Given the description of an element on the screen output the (x, y) to click on. 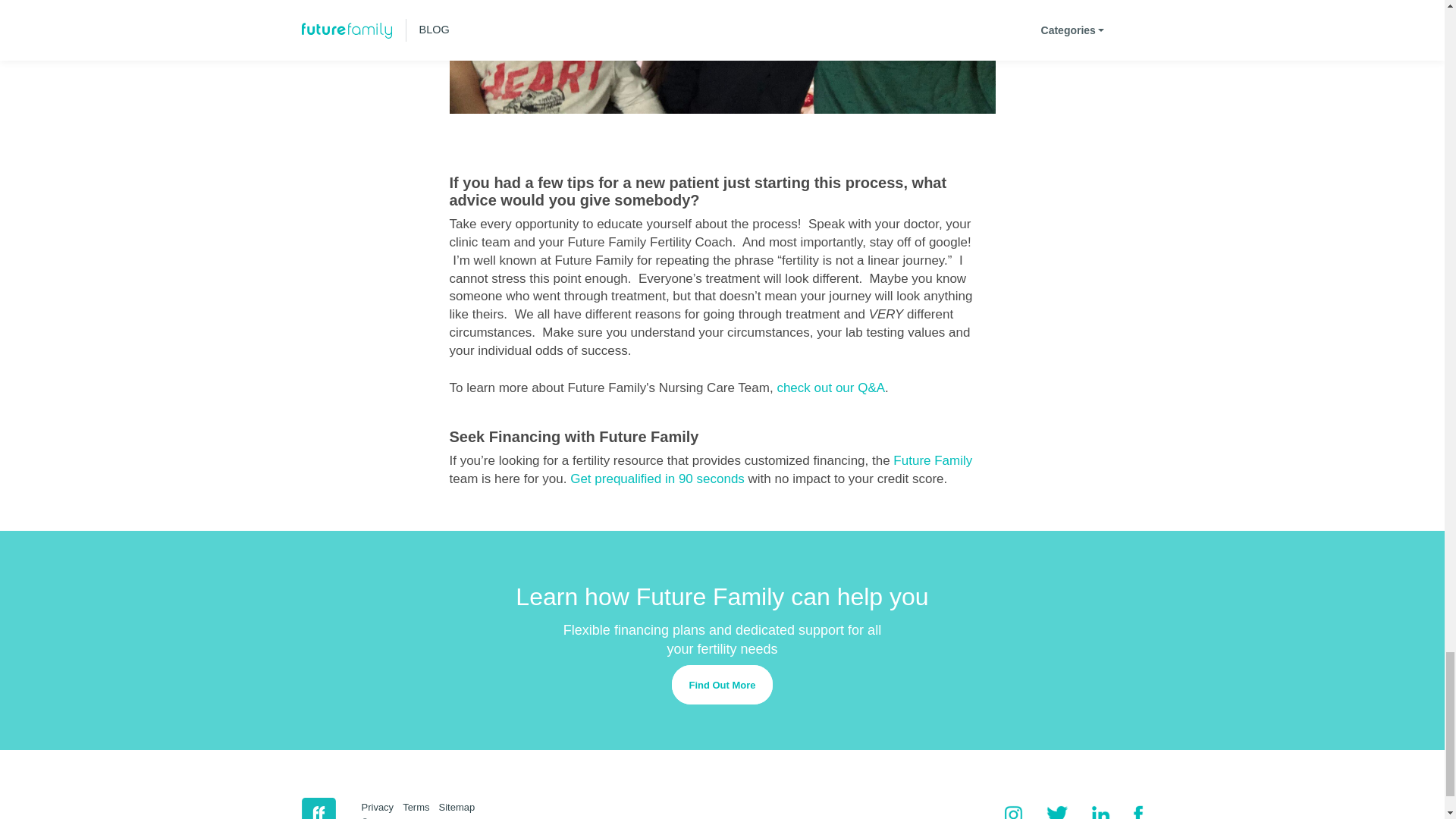
Sitemap (461, 807)
Terms (420, 807)
Privacy (382, 807)
Future Family (932, 460)
Find Out More (721, 684)
Get prequalified in 90 seconds (657, 478)
